Given the description of an element on the screen output the (x, y) to click on. 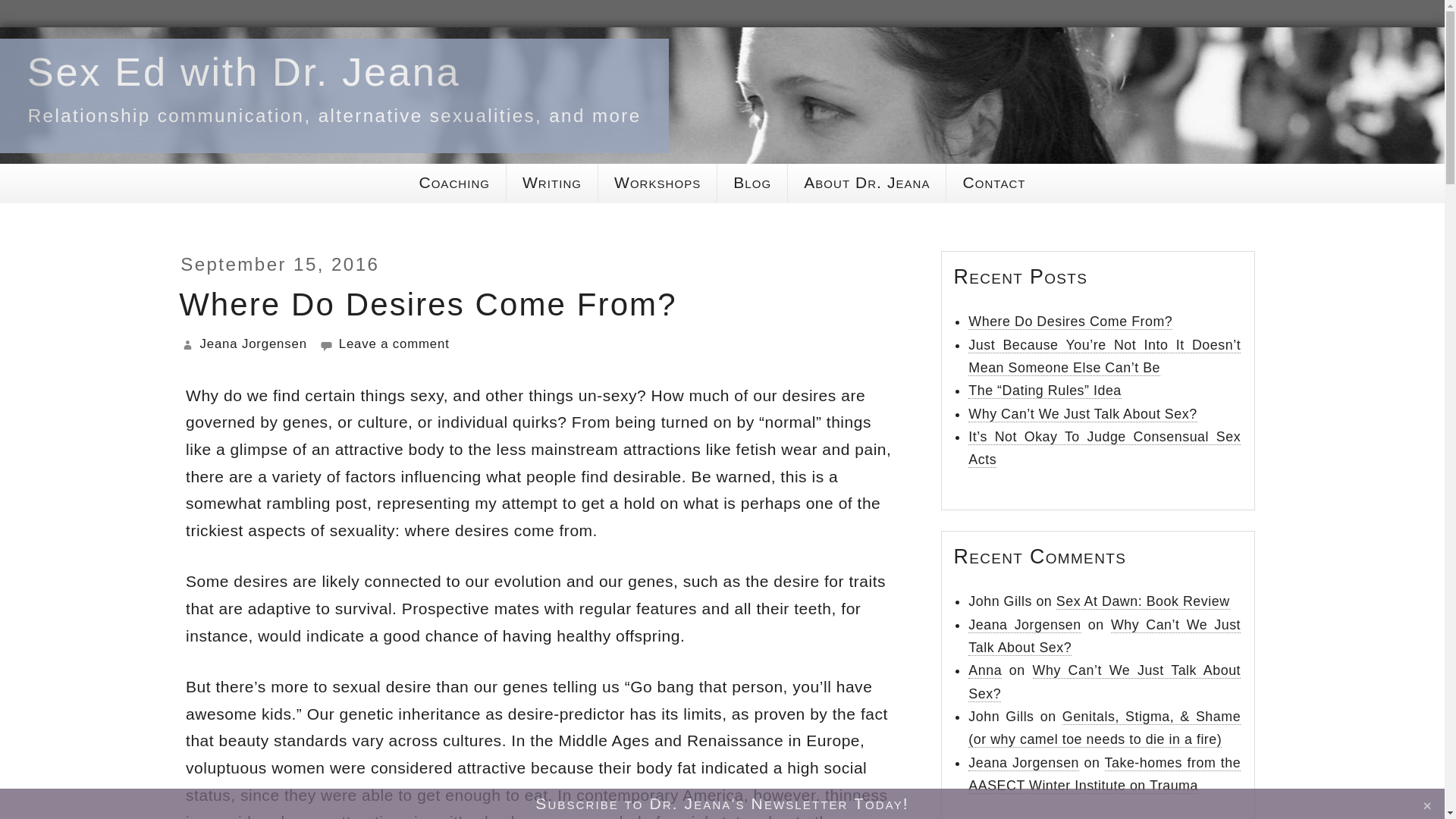
Workshops (657, 182)
Contact (993, 182)
Writing (551, 182)
Coaching (454, 182)
Leave a comment (383, 343)
Jeana Jorgensen (252, 343)
About Dr. Jeana (866, 182)
September 15, 2016 (279, 263)
Sex Ed with Dr. Jeana (244, 71)
Blog (752, 182)
